Given the description of an element on the screen output the (x, y) to click on. 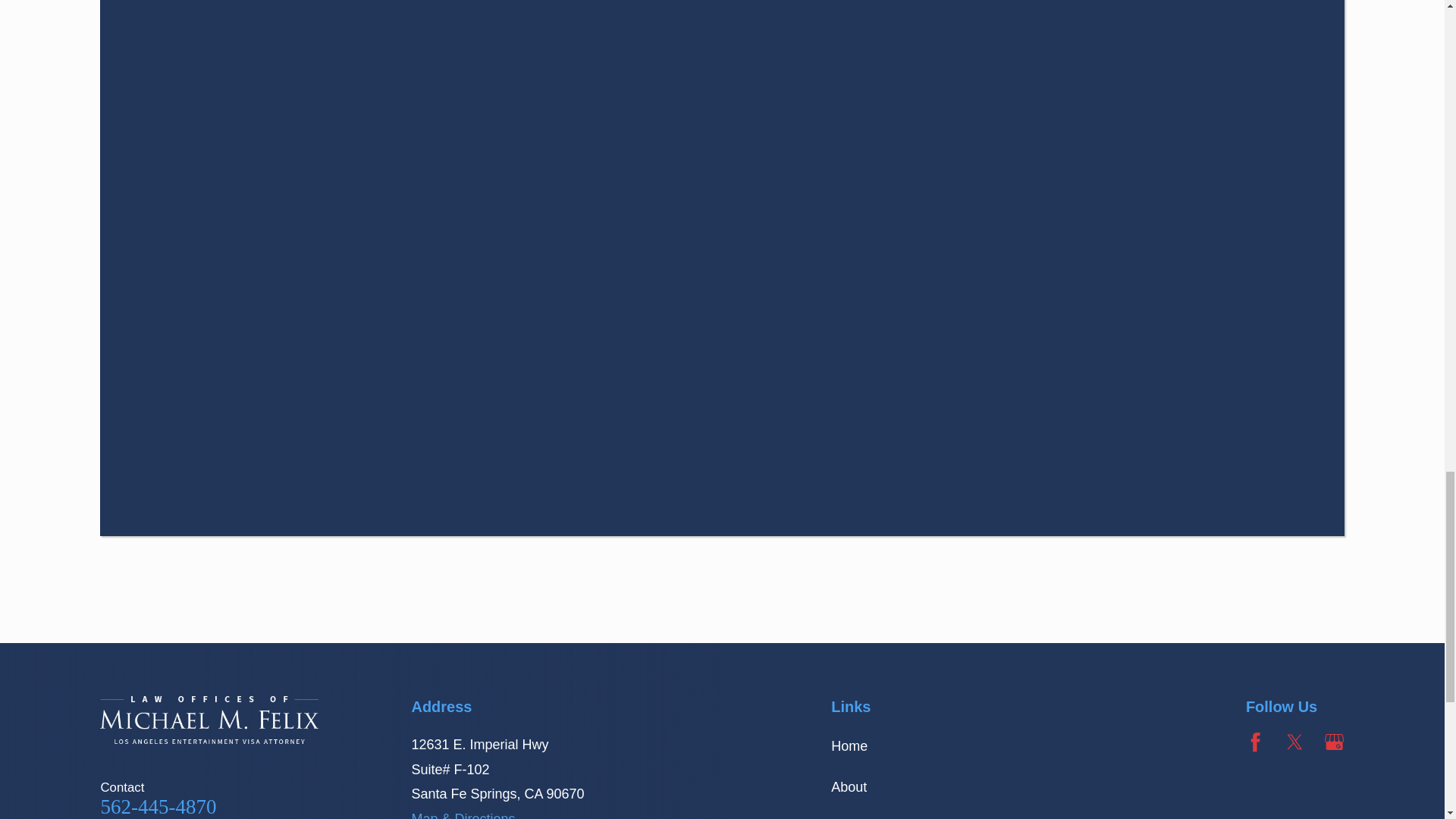
Twitter (1294, 741)
Home (209, 719)
Facebook (1255, 741)
Google Business Profile (1333, 741)
